Given the description of an element on the screen output the (x, y) to click on. 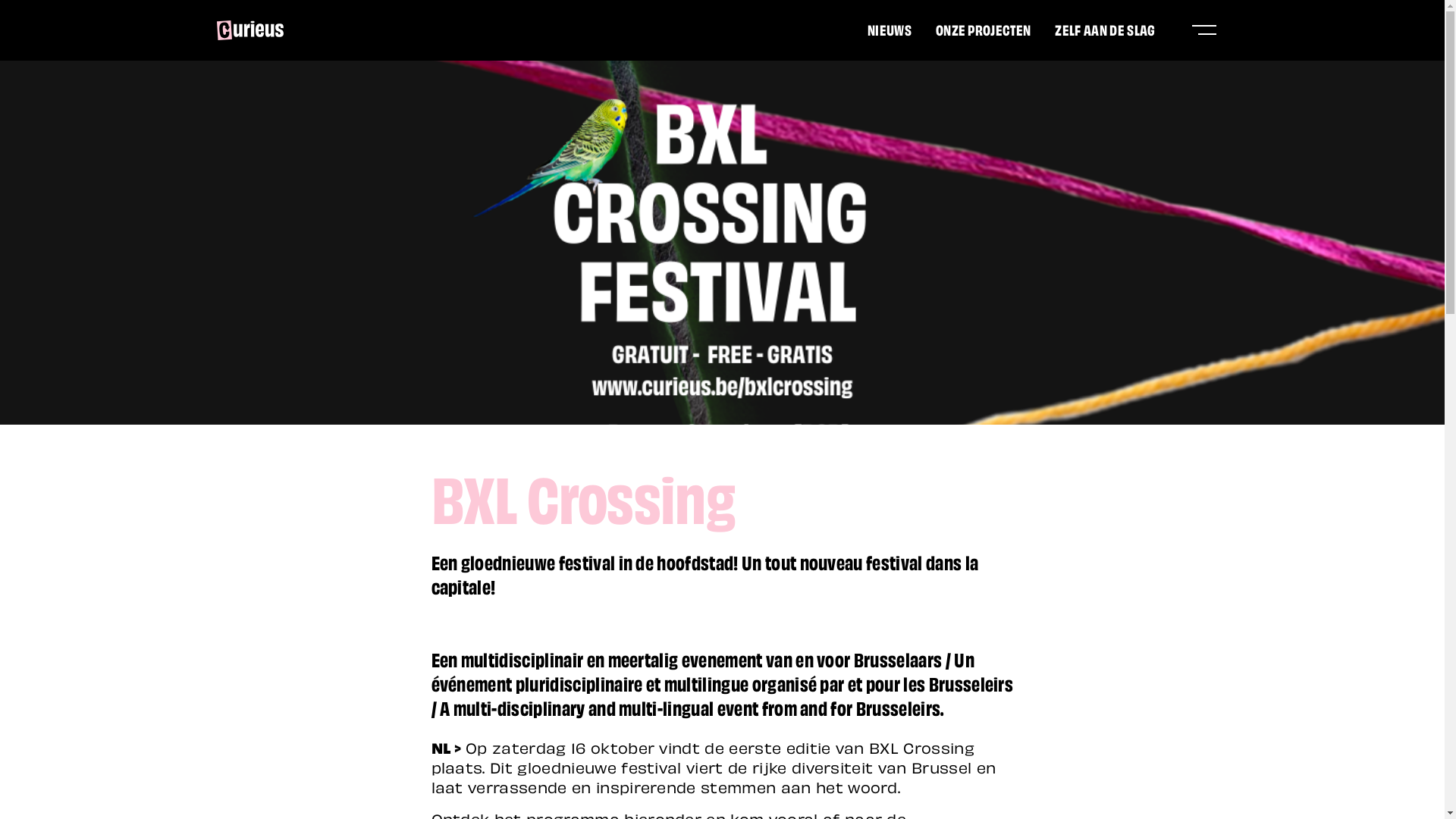
ZELF AAN DE SLAG Element type: text (1104, 28)
ONZE PROJECTEN Element type: text (982, 28)
NIEUWS Element type: text (889, 28)
